Given the description of an element on the screen output the (x, y) to click on. 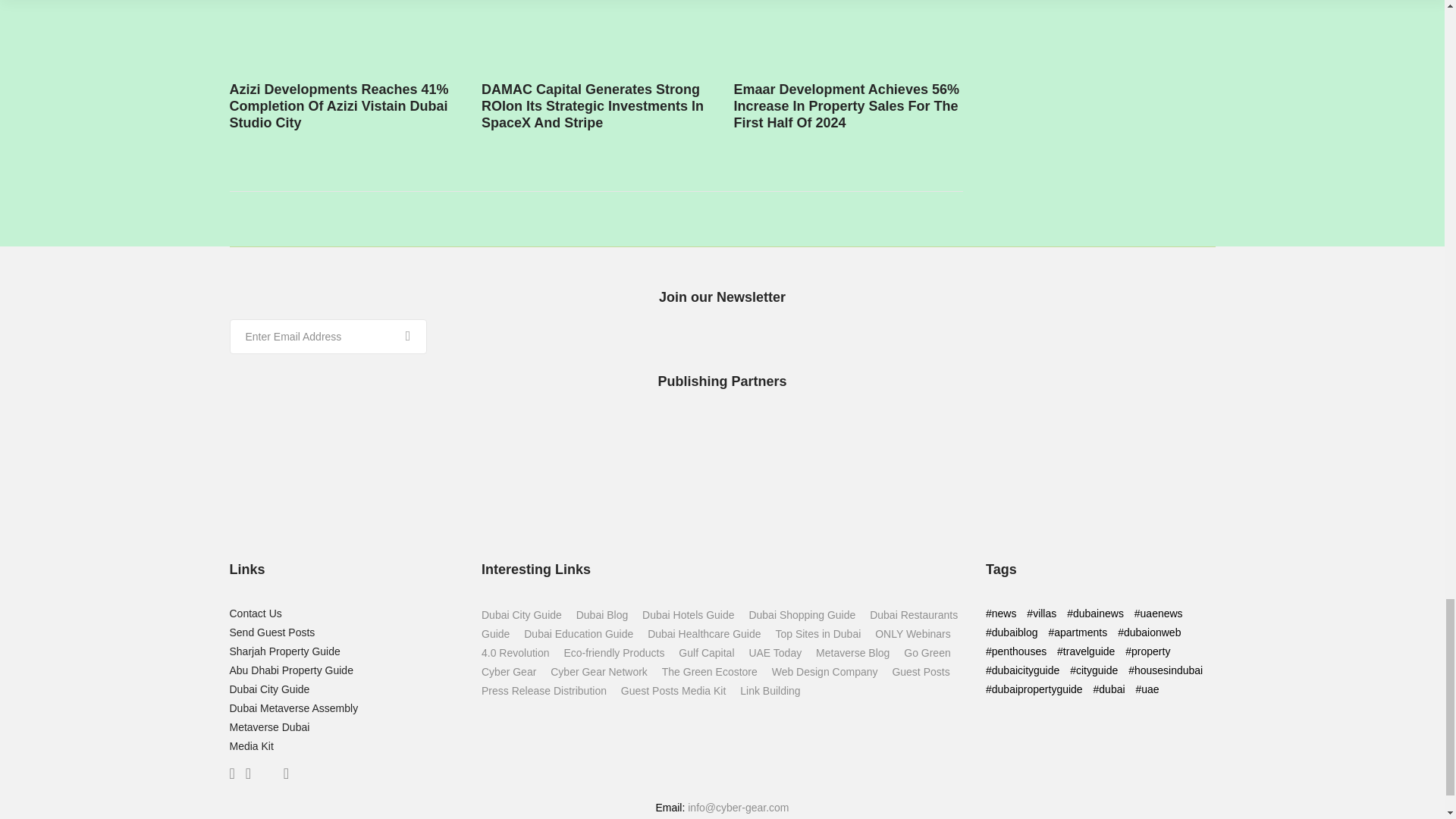
Dubai Metaverse Assembly (293, 707)
Sharjah Property Guide (283, 651)
Metaverse Dubai (268, 727)
Contact Us (254, 613)
Abu Dhabi Property Guide (290, 670)
Media Kit (250, 746)
Send Guest Posts (271, 632)
